Given the description of an element on the screen output the (x, y) to click on. 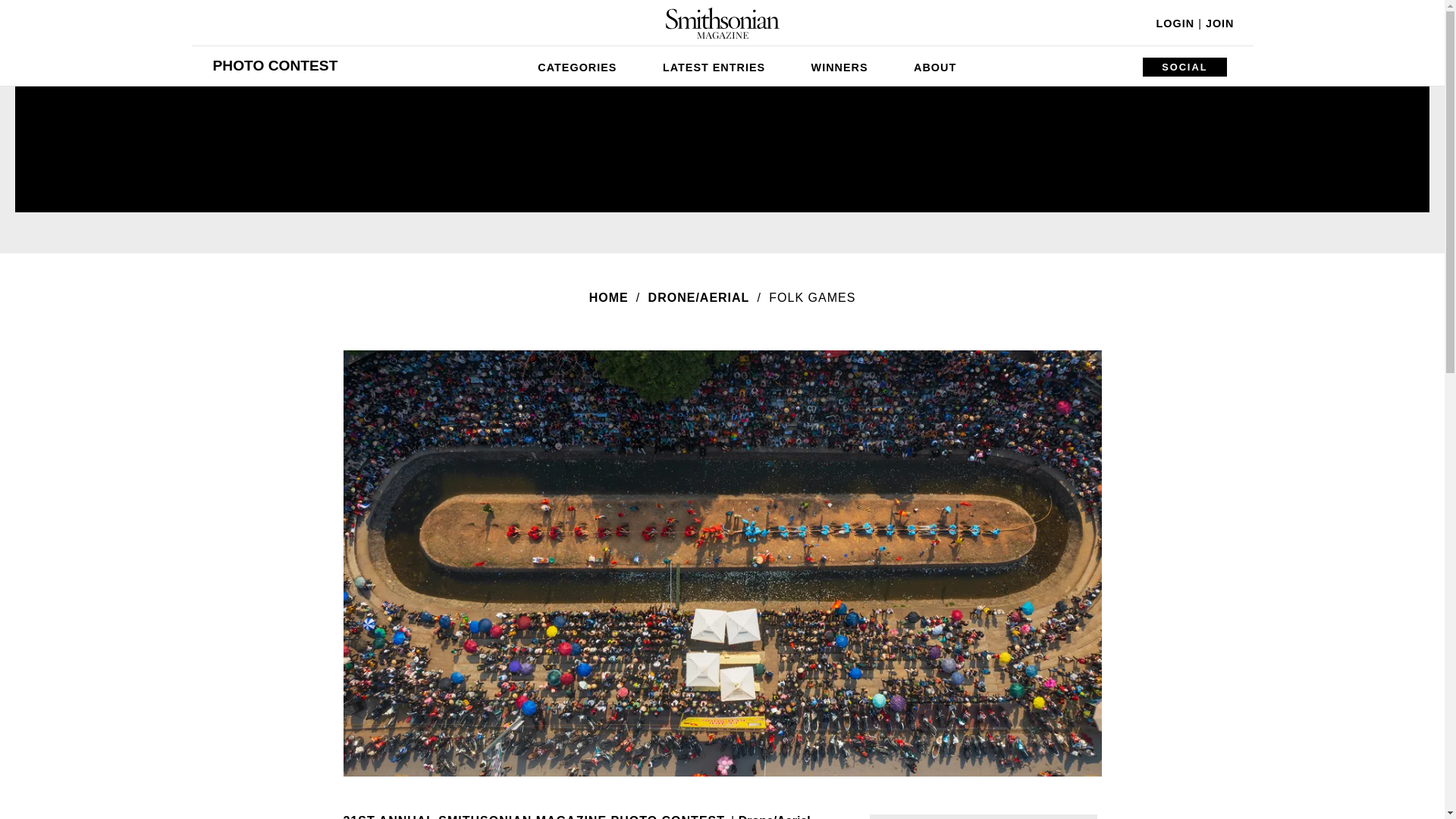
CATEGORIES (577, 65)
SOCIAL (1183, 66)
JOIN (1219, 23)
LATEST ENTRIES (713, 65)
PHOTO CONTEST (274, 65)
ABOUT (934, 65)
WINNERS (839, 65)
